Given the description of an element on the screen output the (x, y) to click on. 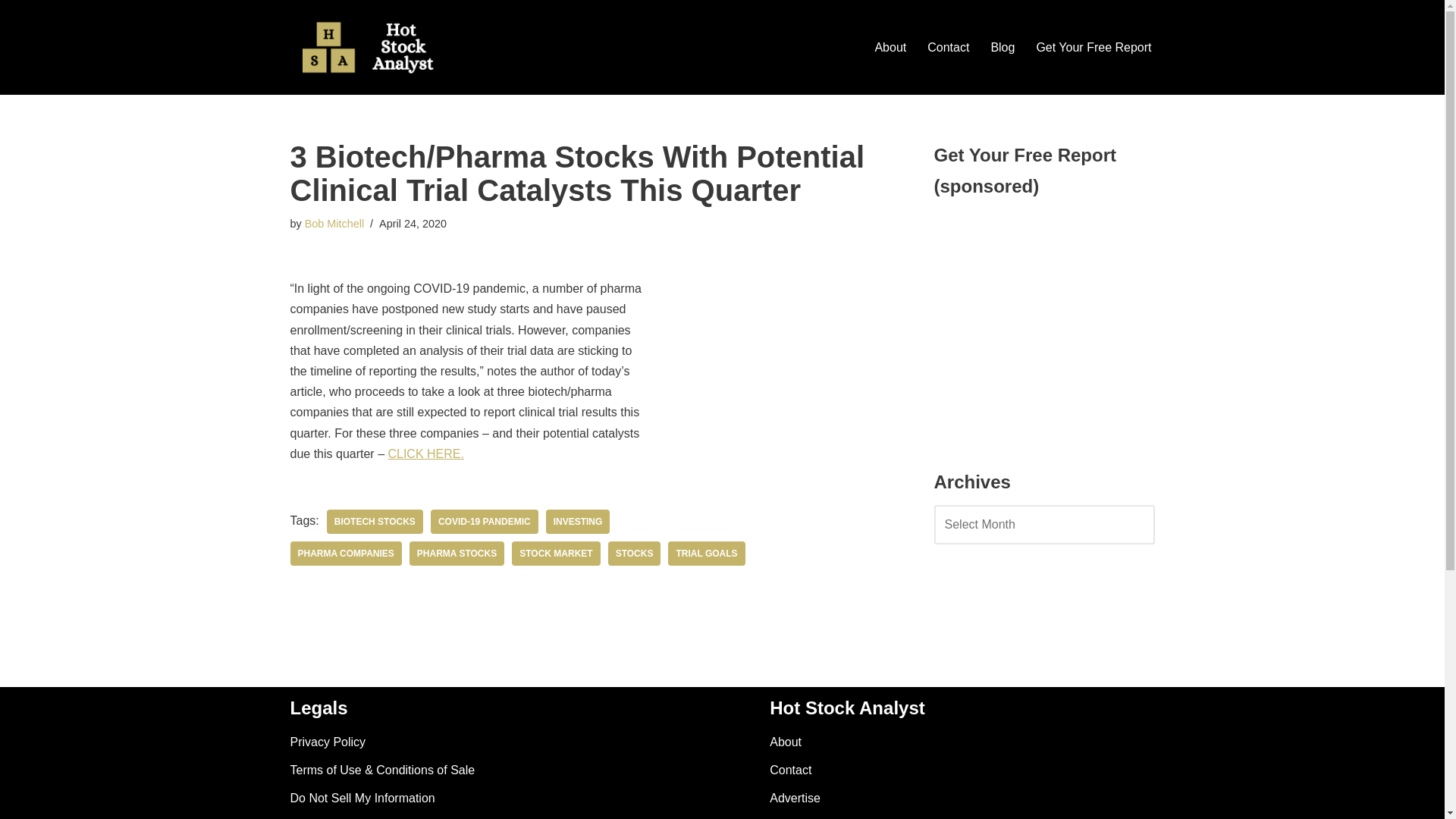
COVID-19 PANDEMIC (484, 521)
COVID-19 Pandemic (484, 521)
Do Not Sell My Information (361, 797)
Contact (790, 769)
PHARMA COMPANIES (345, 553)
Get Your Free Report (1093, 46)
Contact (948, 46)
BIOTECH STOCKS (374, 521)
stocks (634, 553)
Posts by Bob Mitchell (334, 223)
STOCKS (634, 553)
Blog (1002, 46)
About (890, 46)
Bob Mitchell (334, 223)
INVESTING (578, 521)
